Given the description of an element on the screen output the (x, y) to click on. 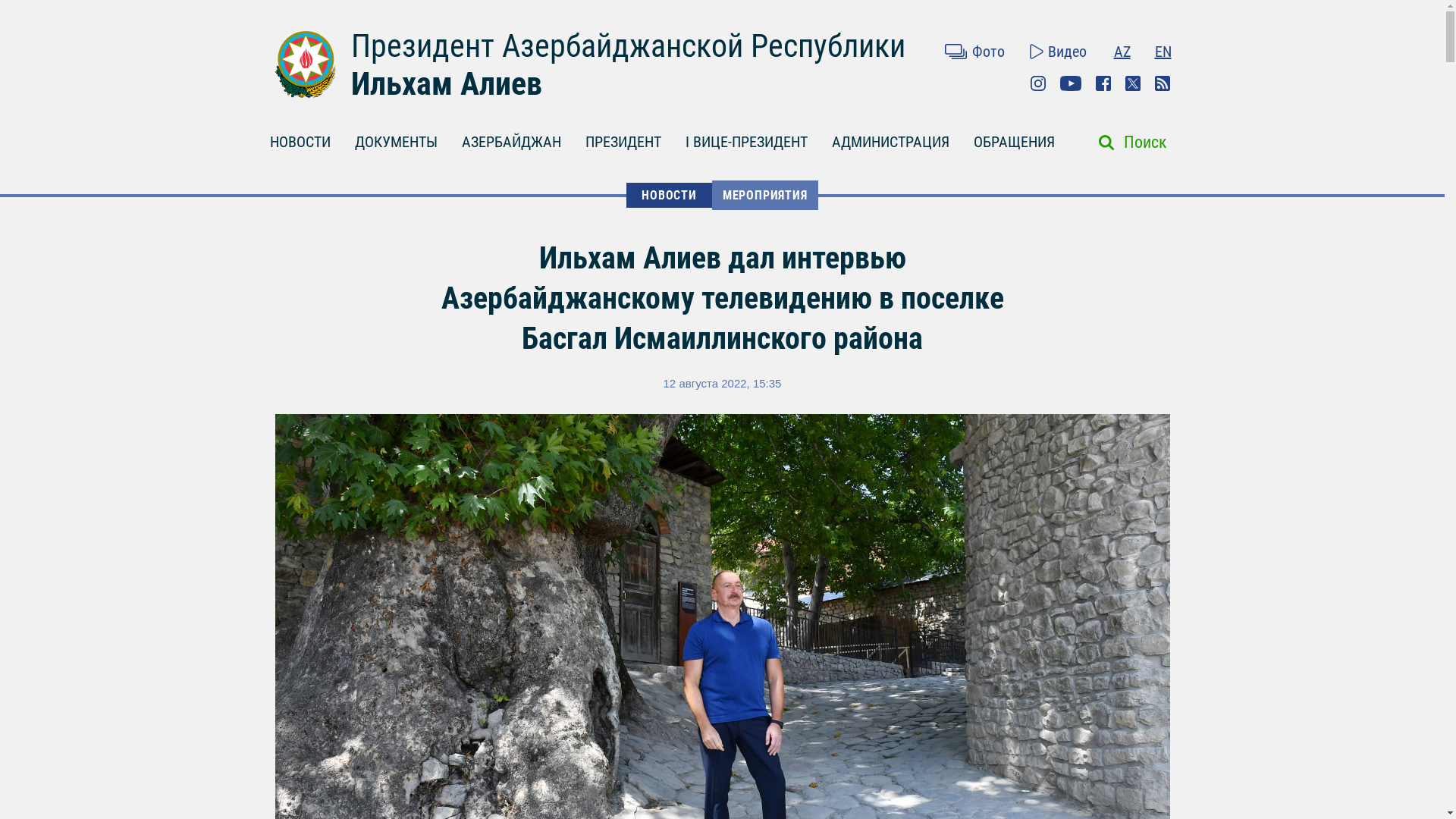
EN Element type: text (1162, 51)
Youtube Element type: text (1070, 83)
Facebook Element type: text (1102, 83)
Rss Element type: text (1161, 83)
AZ Element type: text (1121, 51)
Twitter Element type: text (1132, 83)
Instagram Element type: text (1036, 83)
